Given the description of an element on the screen output the (x, y) to click on. 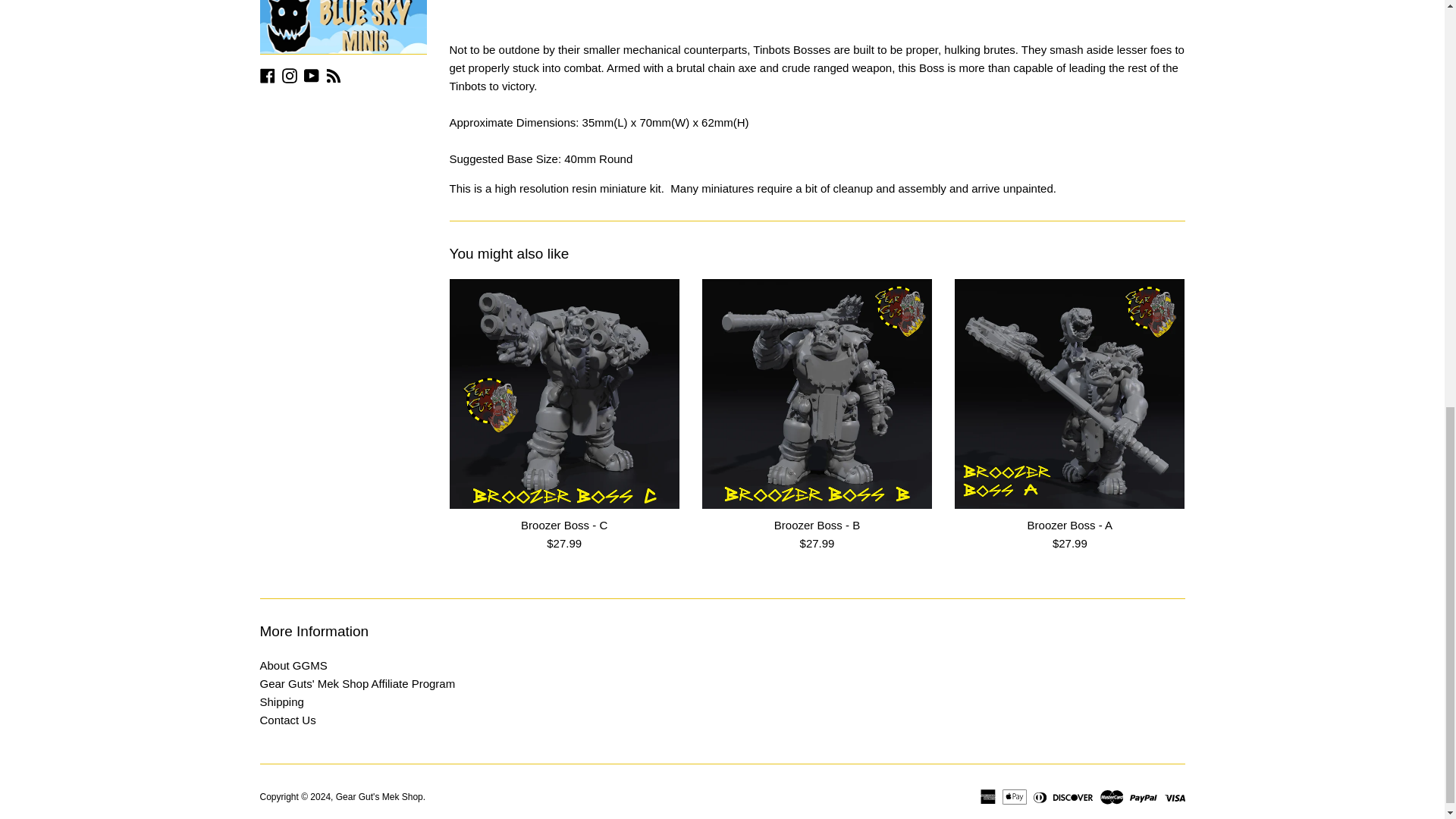
Broozer Boss - C (564, 524)
Instagram (289, 74)
Facebook (267, 74)
Gear Gut's Mek Shop on Instagram (289, 74)
YouTube (311, 74)
Broozer Boss - C (563, 393)
About GGMS (292, 665)
Gear Gut's Mek Shop on YouTube (311, 74)
Shipping (280, 701)
Gear Gut's Mek Shop on Facebook (267, 74)
Blog (333, 74)
Blue Sky Minis (342, 27)
Broozer Boss - B (817, 524)
Gear Guts' Mek Shop Affiliate Program (356, 683)
Broozer Boss - B (816, 393)
